Given the description of an element on the screen output the (x, y) to click on. 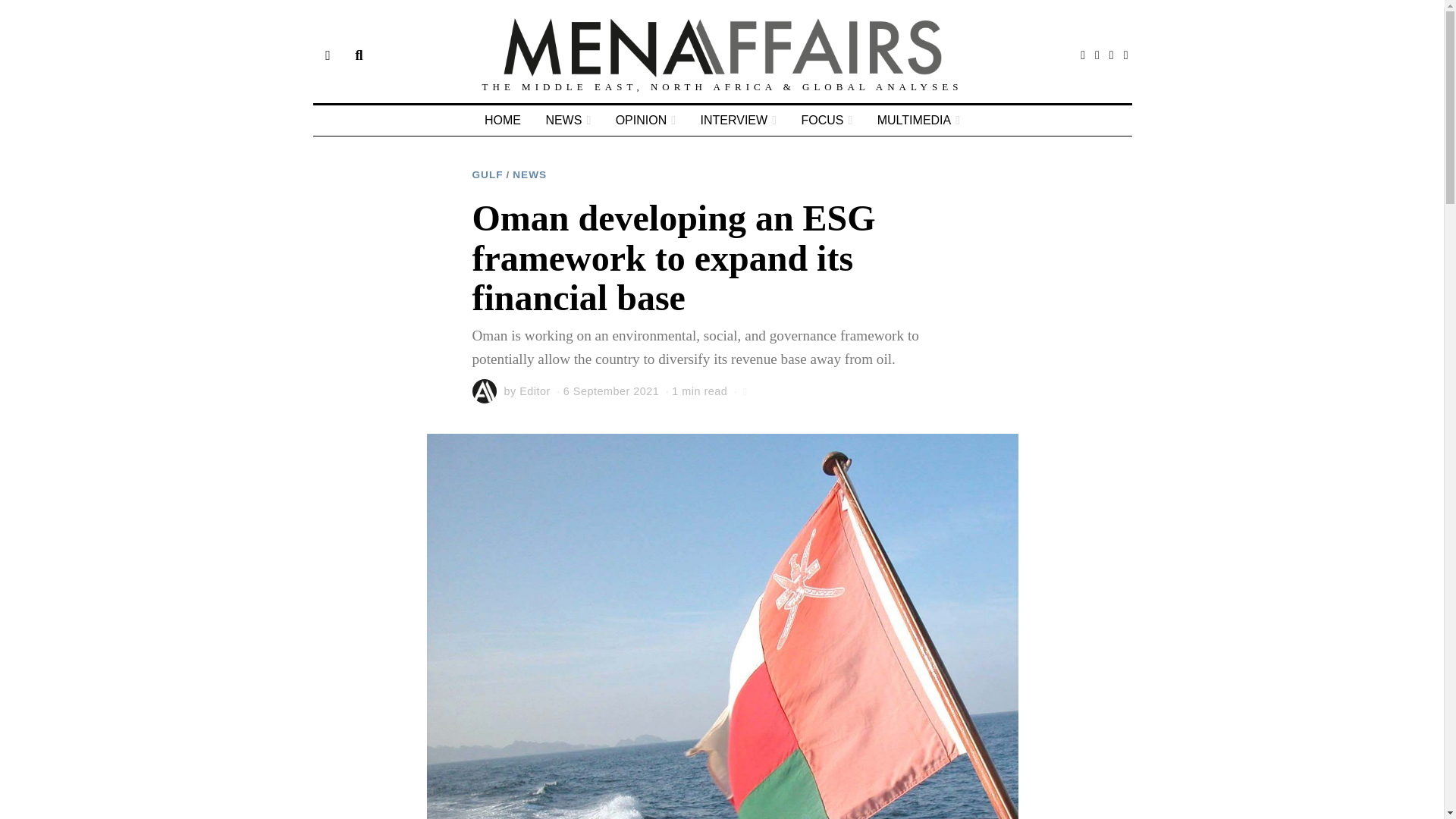
Editor (534, 390)
NEWS (567, 120)
HOME (502, 120)
MULTIMEDIA (918, 120)
NEWS (529, 174)
INTERVIEW (738, 120)
GULF (486, 174)
OPINION (645, 120)
FOCUS (826, 120)
